Given the description of an element on the screen output the (x, y) to click on. 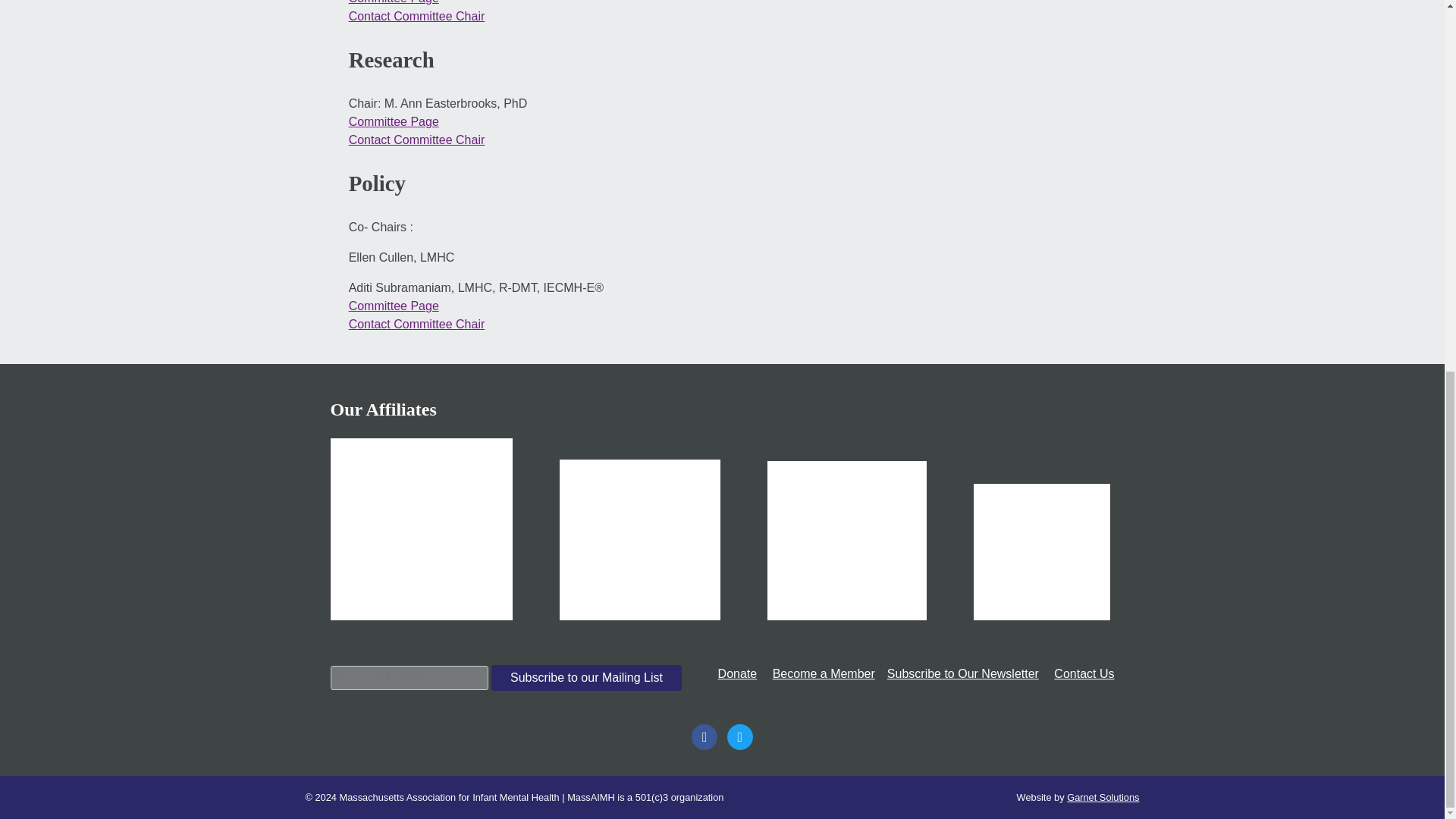
Twitter (739, 735)
World Association of Infant Mental Health logo (421, 528)
Subscribe to our Mailing List (586, 678)
Facebook (704, 735)
